Given the description of an element on the screen output the (x, y) to click on. 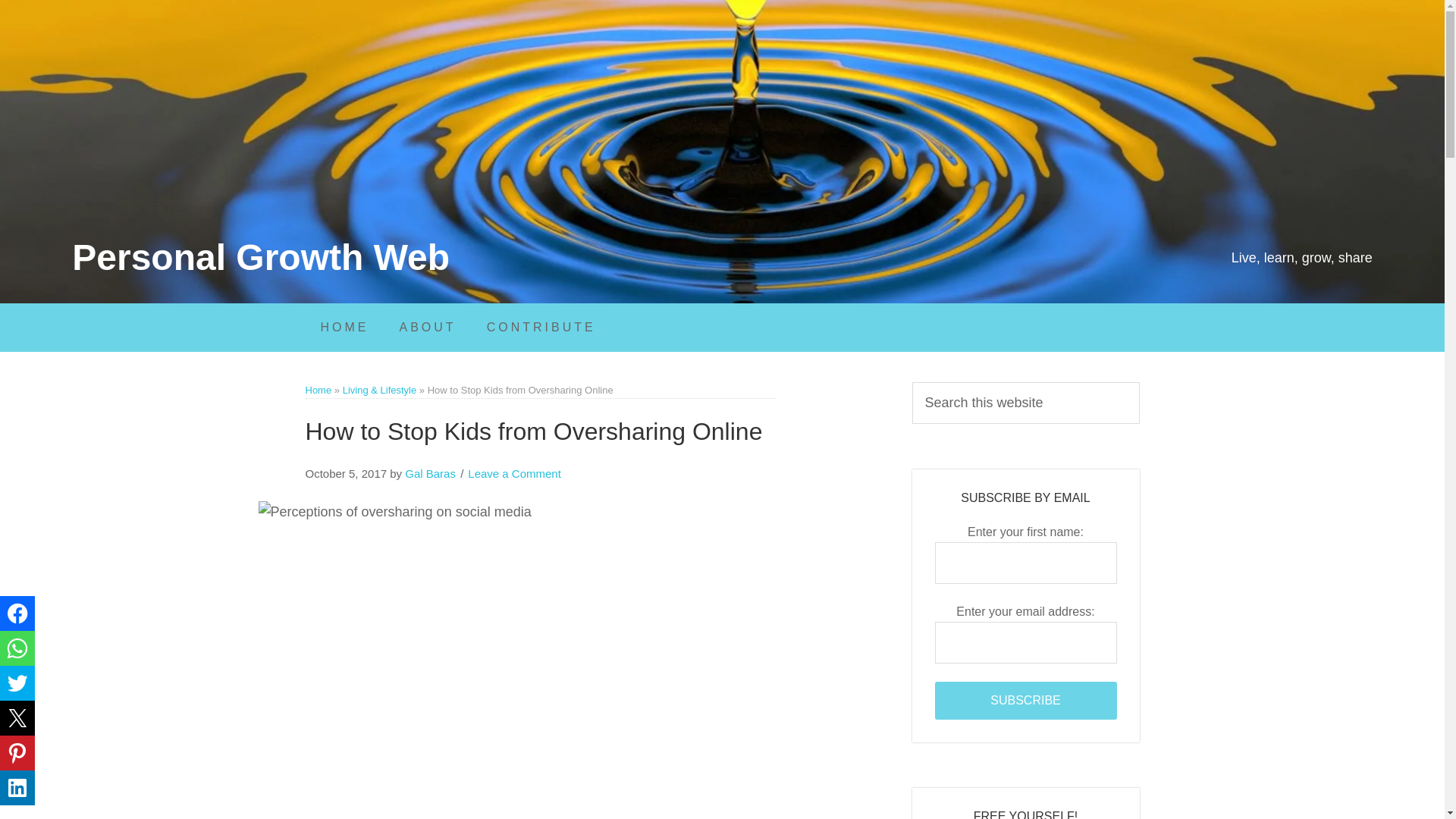
Home (317, 389)
Subscribe (1025, 700)
Leave a Comment (513, 472)
HOME (344, 327)
ABOUT (427, 327)
Subscribe (1025, 700)
Gal Baras (429, 472)
CONTRIBUTE (541, 327)
